Given the description of an element on the screen output the (x, y) to click on. 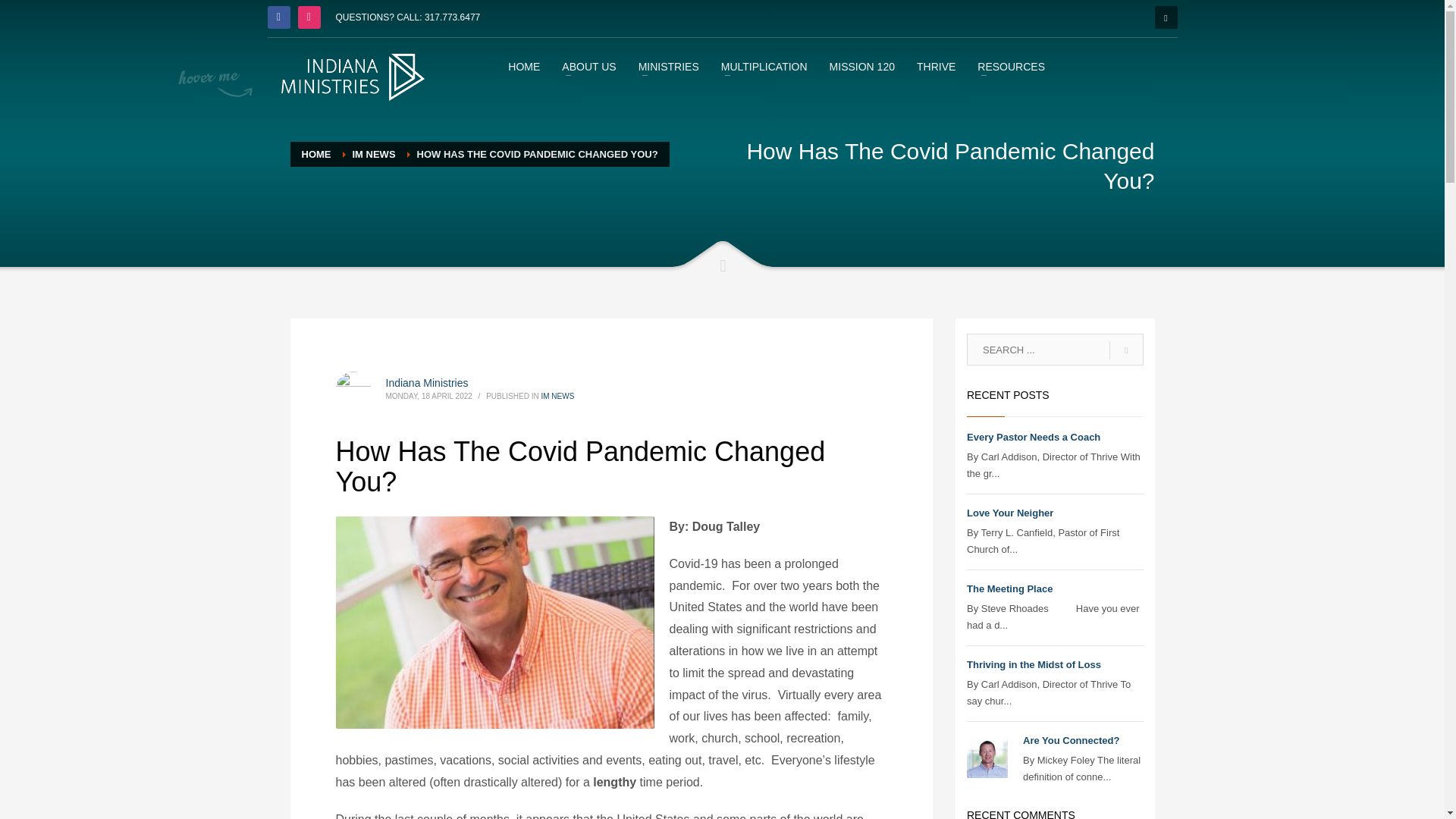
THRIVE (935, 66)
MINISTRIES (667, 66)
A Website for Church of God pastors and churches in Indiana (352, 77)
Thriving in the Midst of Loss (1033, 664)
317.773.6477 (452, 17)
RESOURCES (1011, 66)
HOME (316, 153)
Facebook (277, 16)
doug-1 (493, 622)
MULTIPLICATION (763, 66)
